Given the description of an element on the screen output the (x, y) to click on. 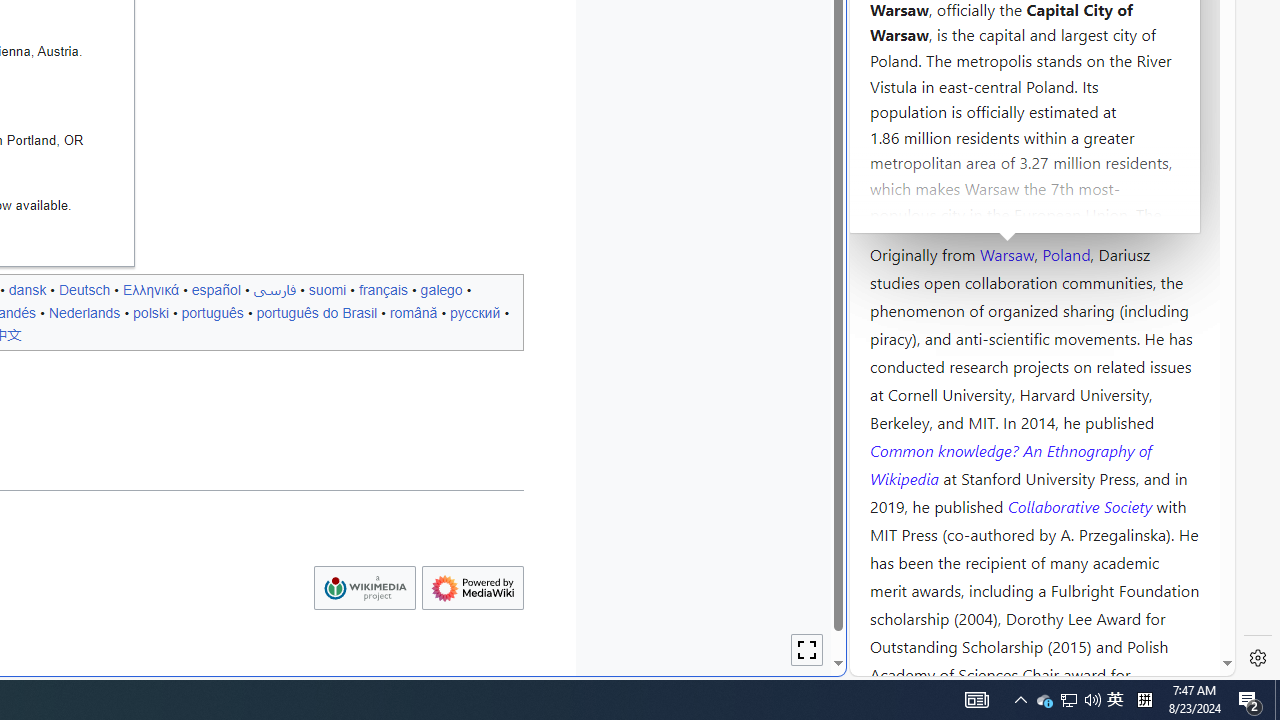
Deutsch (84, 289)
polski (150, 312)
AutomationID: footer-poweredbyico (472, 588)
Toggle limited content width (807, 650)
galego (441, 289)
Harvard University (934, 205)
Nederlands (84, 312)
Warsaw (1006, 253)
suomi (327, 289)
